Given the description of an element on the screen output the (x, y) to click on. 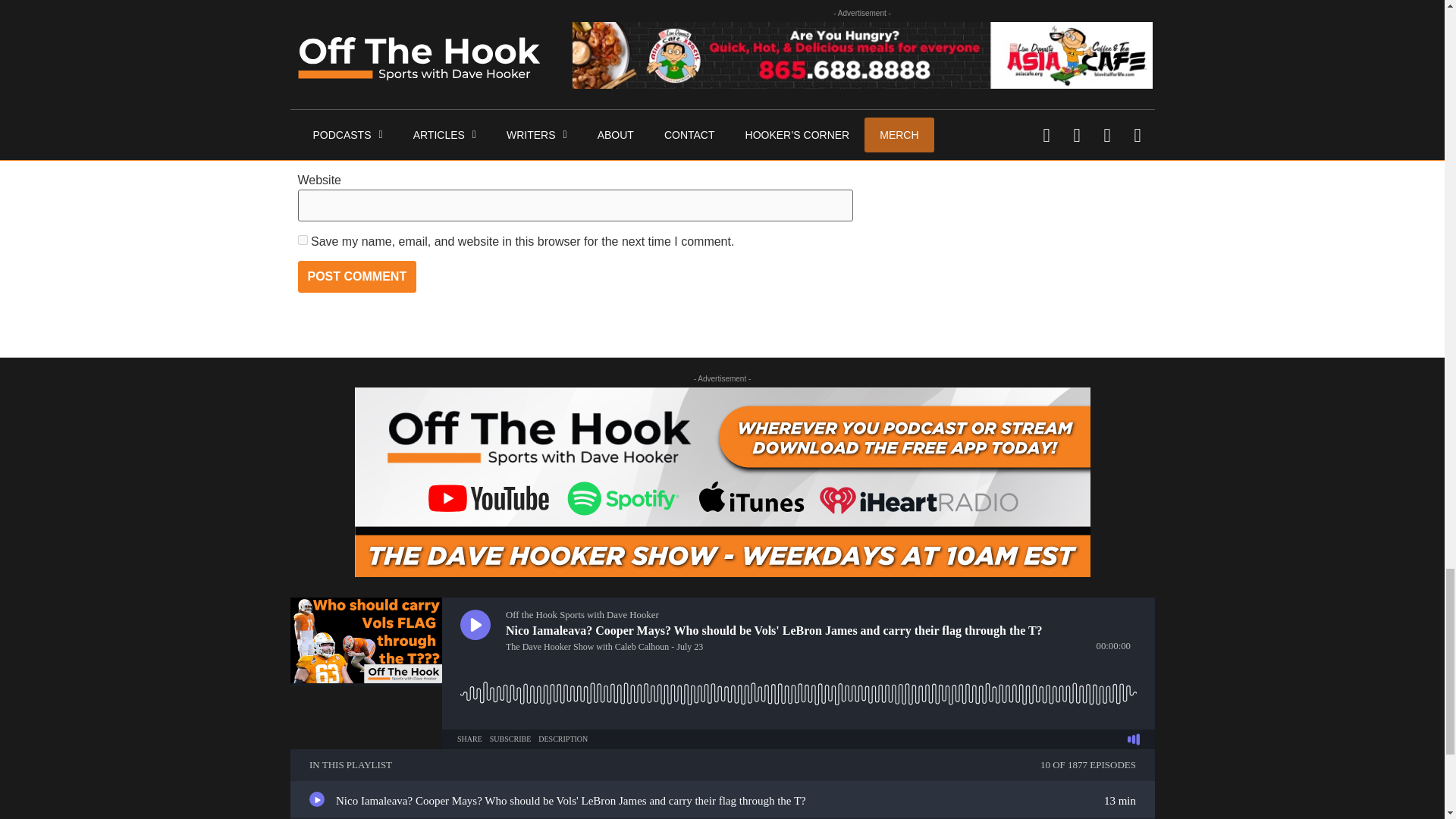
yes (302, 239)
Post Comment (356, 276)
